Given the description of an element on the screen output the (x, y) to click on. 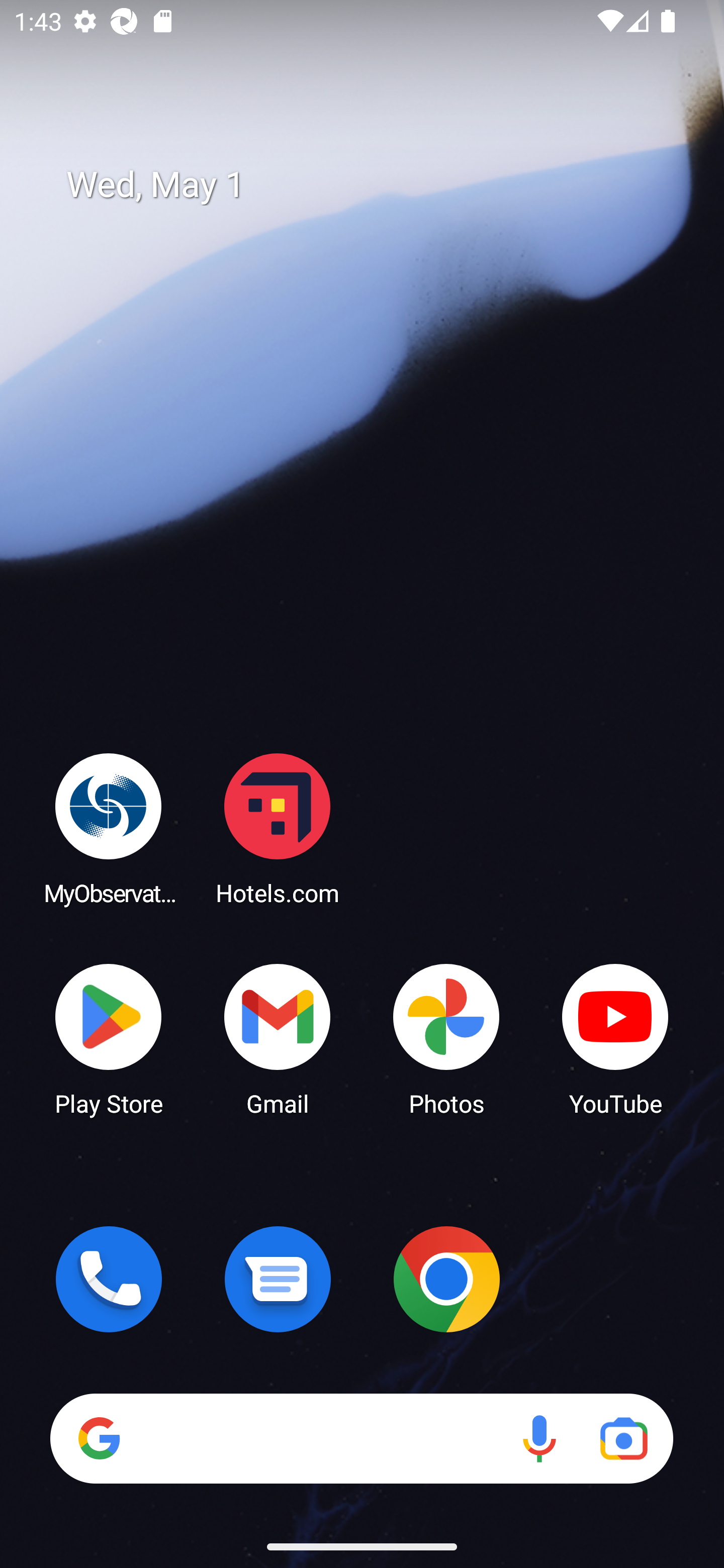
Wed, May 1 (375, 184)
MyObservatory (108, 828)
Hotels.com (277, 828)
Play Store (108, 1038)
Gmail (277, 1038)
Photos (445, 1038)
YouTube (615, 1038)
Phone (108, 1279)
Messages (277, 1279)
Chrome (446, 1279)
Search Voice search Google Lens (361, 1438)
Voice search (539, 1438)
Google Lens (623, 1438)
